Given the description of an element on the screen output the (x, y) to click on. 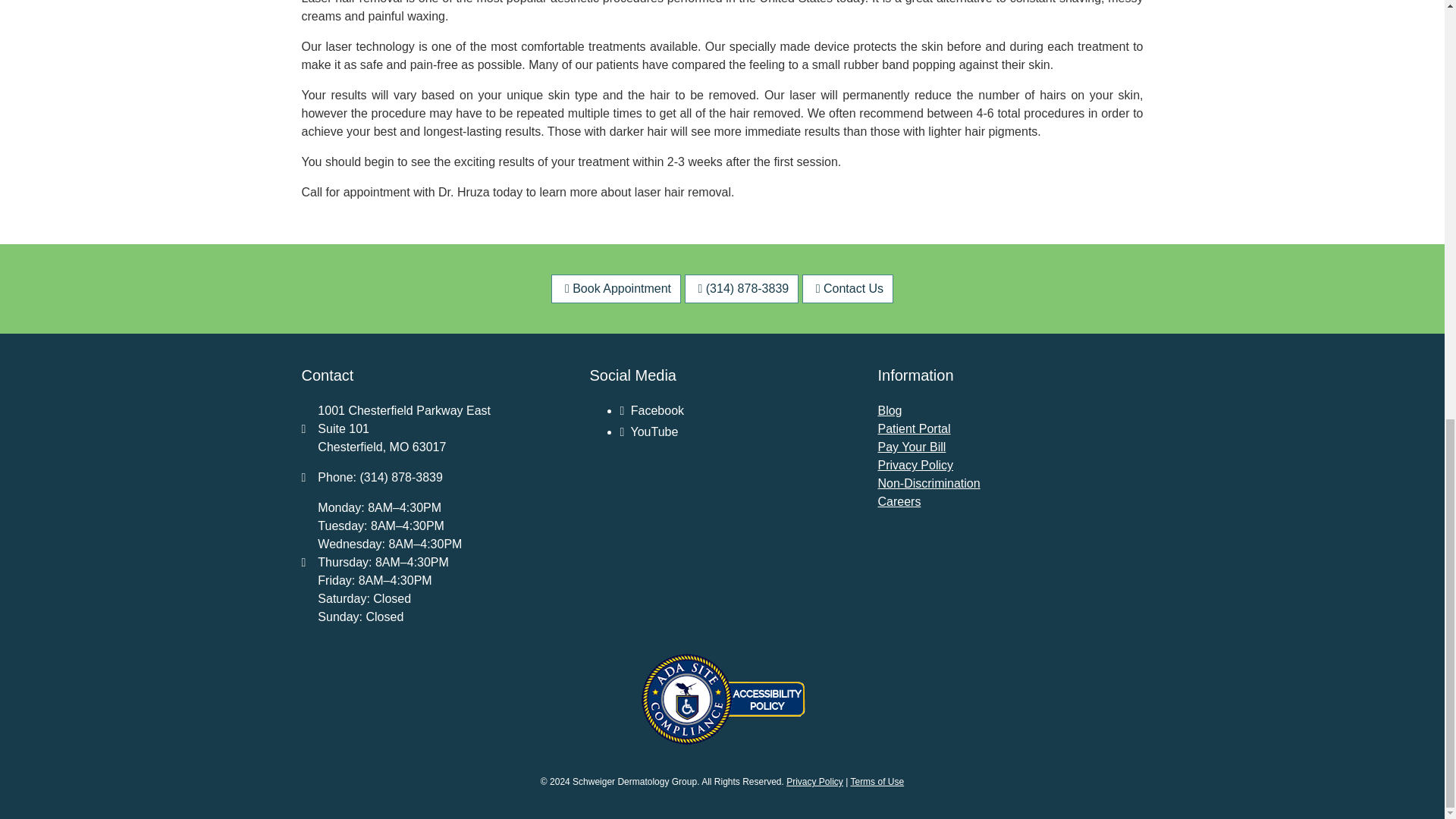
Blog (889, 410)
Book Appointment (616, 288)
Careers (898, 501)
Pay Your Bill (910, 446)
YouTube (649, 431)
Contact Us (847, 288)
Non-Discrimination (928, 482)
Patient Portal (913, 428)
Facebook (652, 410)
Privacy Policy (915, 464)
